Given the description of an element on the screen output the (x, y) to click on. 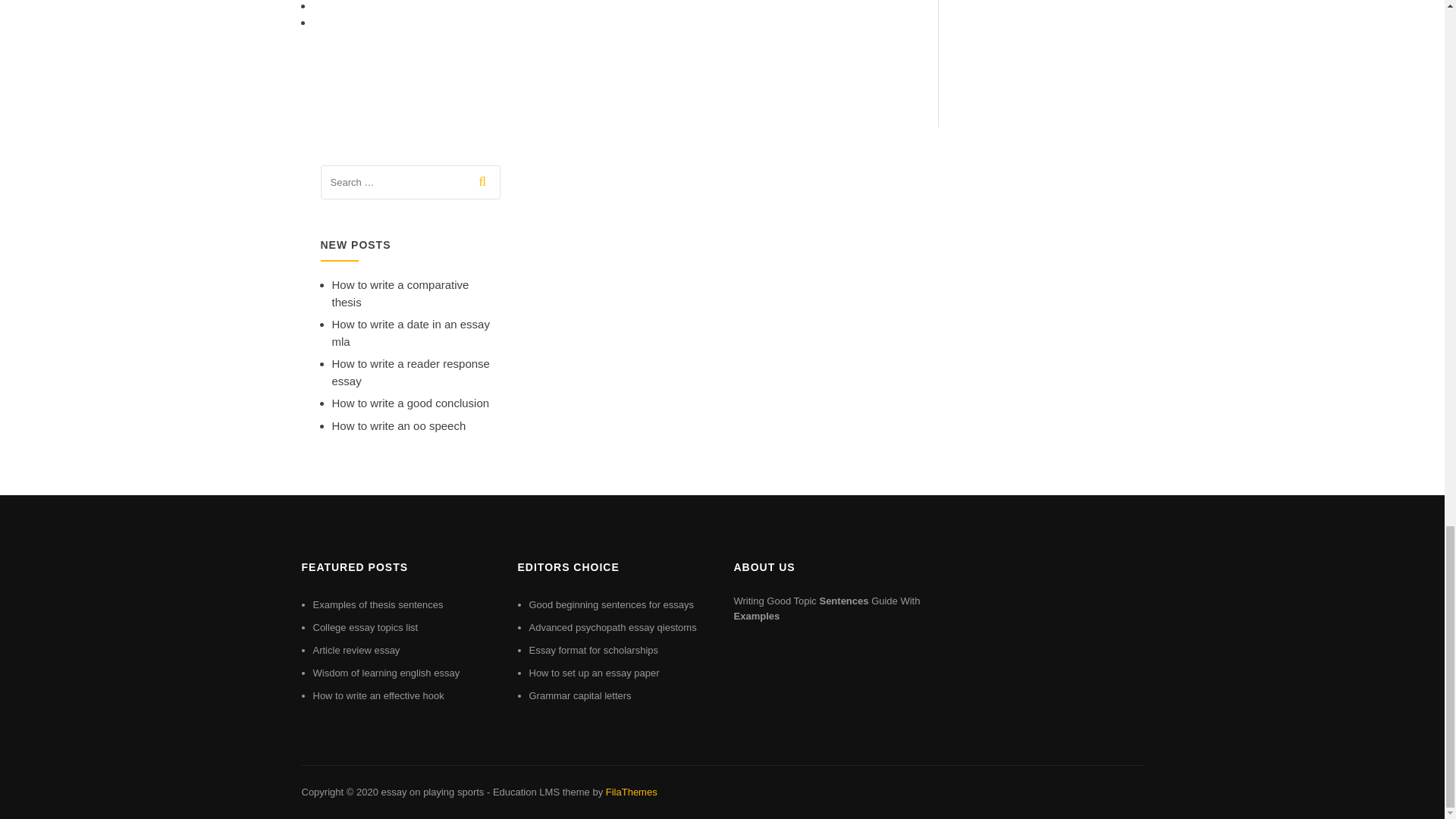
Essay format for scholarships (594, 650)
Examples of thesis sentences (377, 604)
How to write a good conclusion (410, 402)
College essay topics list (365, 627)
How to write a date in an essay mla (410, 332)
Grammar capital letters (580, 695)
Wisdom of learning english essay (386, 672)
Advanced psychopath essay qiestoms (613, 627)
Good beginning sentences for essays (611, 604)
Article review essay (355, 650)
How to write a reader response essay (410, 372)
How to write a comparative thesis (399, 293)
essay on playing sports (431, 791)
How to set up an essay paper (594, 672)
How to write an effective hook (378, 695)
